Given the description of an element on the screen output the (x, y) to click on. 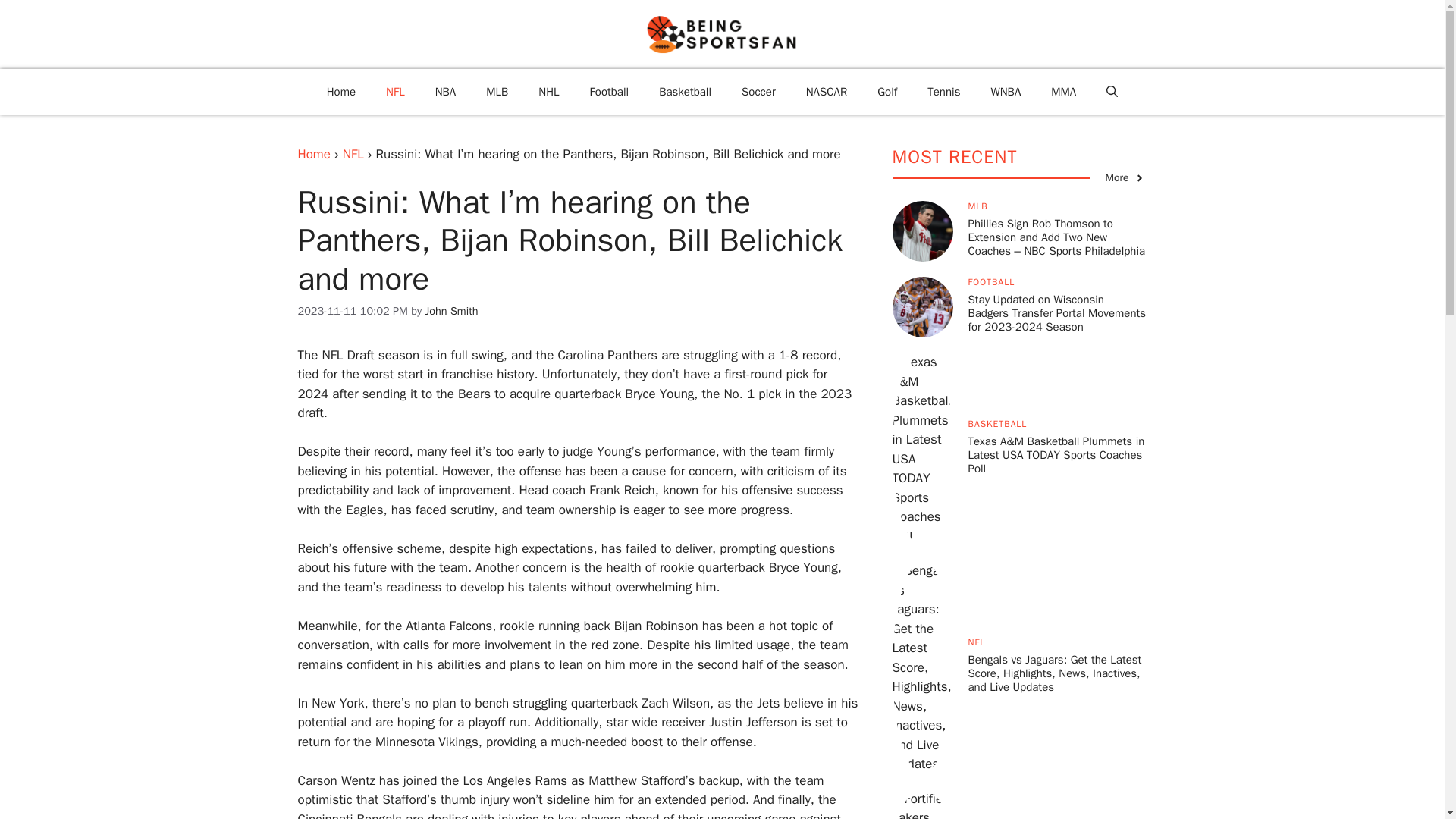
Football (610, 91)
Home (313, 154)
MMA (1062, 91)
NASCAR (826, 91)
NHL (547, 91)
NBA (445, 91)
MLB (496, 91)
Basketball (684, 91)
NFL (353, 154)
John Smith (451, 310)
